Given the description of an element on the screen output the (x, y) to click on. 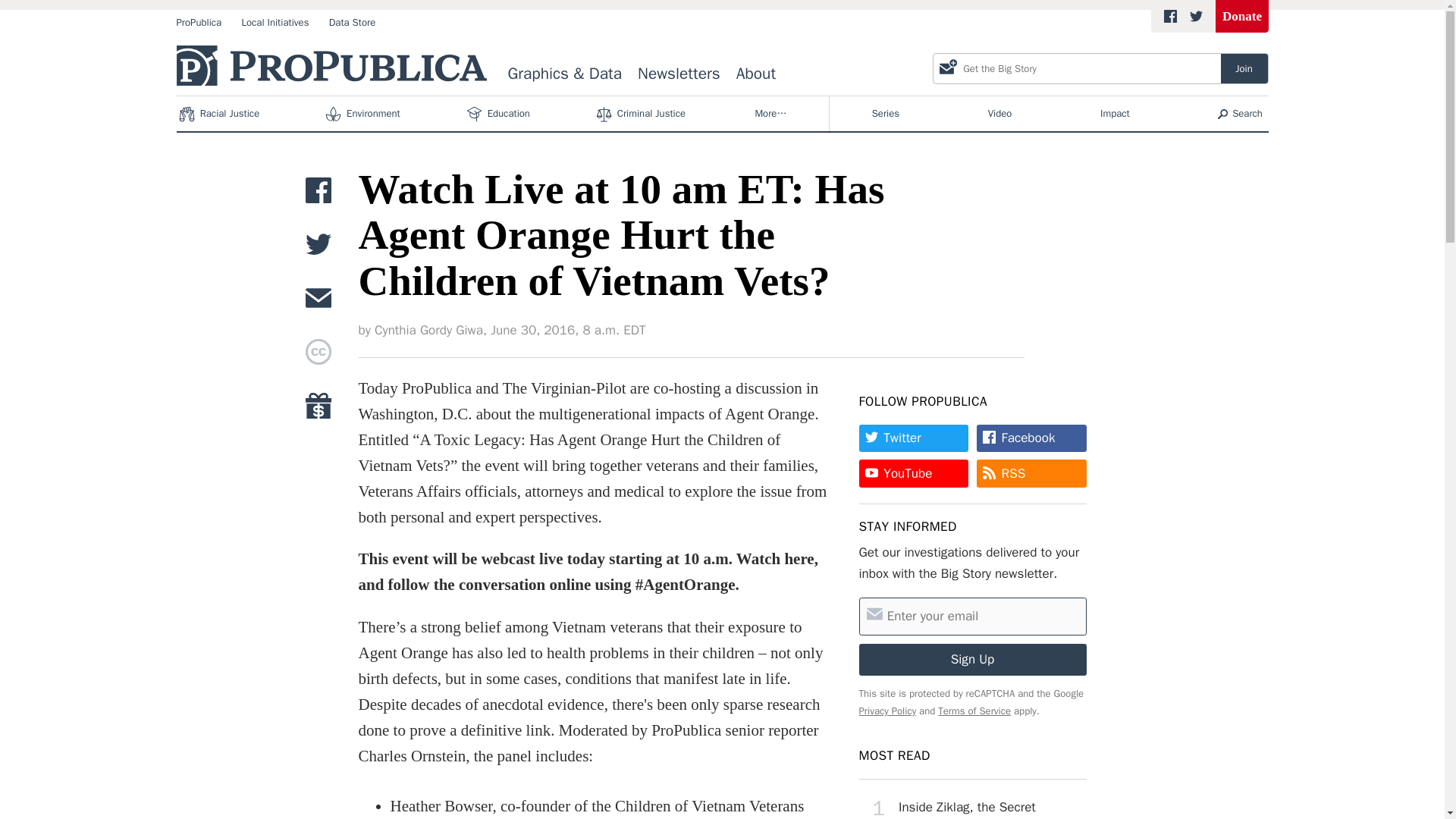
Cynthia Gordy Giwa (428, 330)
Racial Justice (220, 113)
Criminal Justice (642, 113)
View this (972, 803)
ProPublica (198, 22)
Data Store (352, 22)
Impact (1114, 113)
Twitter (913, 438)
Video (999, 113)
Series (885, 113)
